Given the description of an element on the screen output the (x, y) to click on. 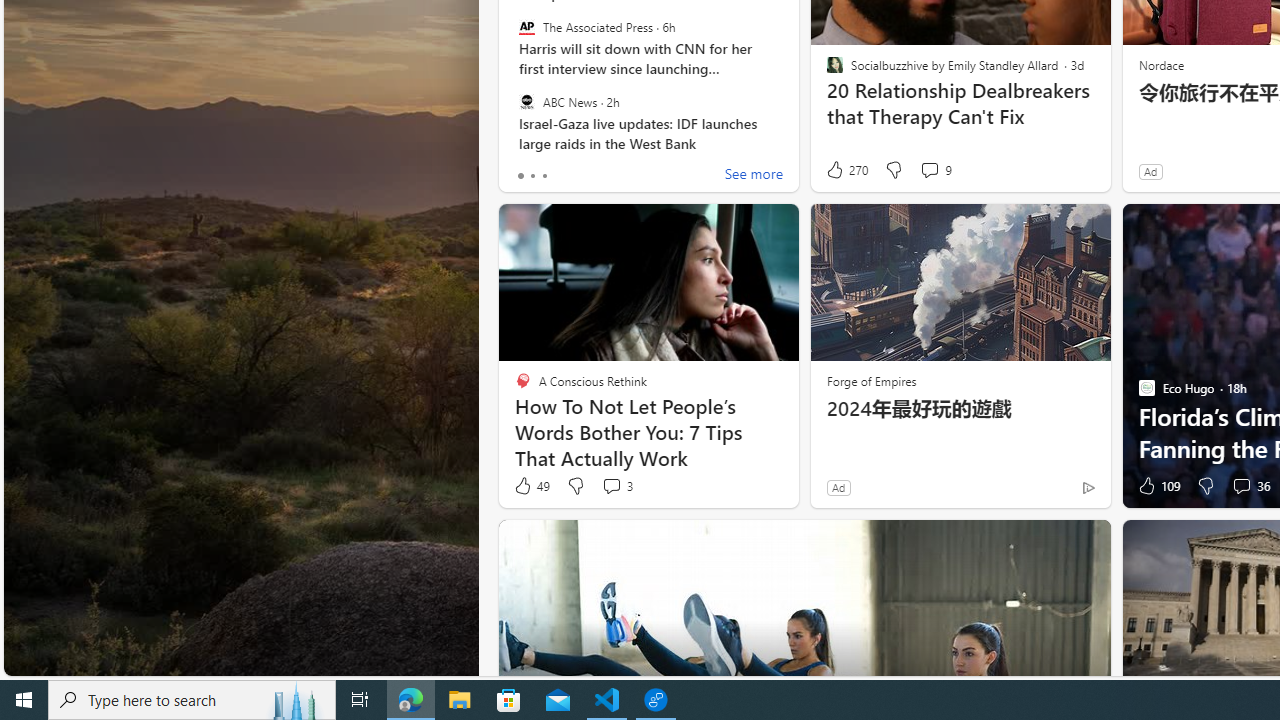
ABC News (526, 101)
270 Like (845, 170)
View comments 3 Comment (616, 485)
Nordace (1160, 64)
tab-0 (520, 175)
Dislike (1204, 485)
View comments 36 Comment (1241, 485)
View comments 9 Comment (929, 169)
View comments 3 Comment (611, 485)
Ad (838, 487)
Ad Choice (1087, 487)
View comments 36 Comment (1249, 485)
